Given the description of an element on the screen output the (x, y) to click on. 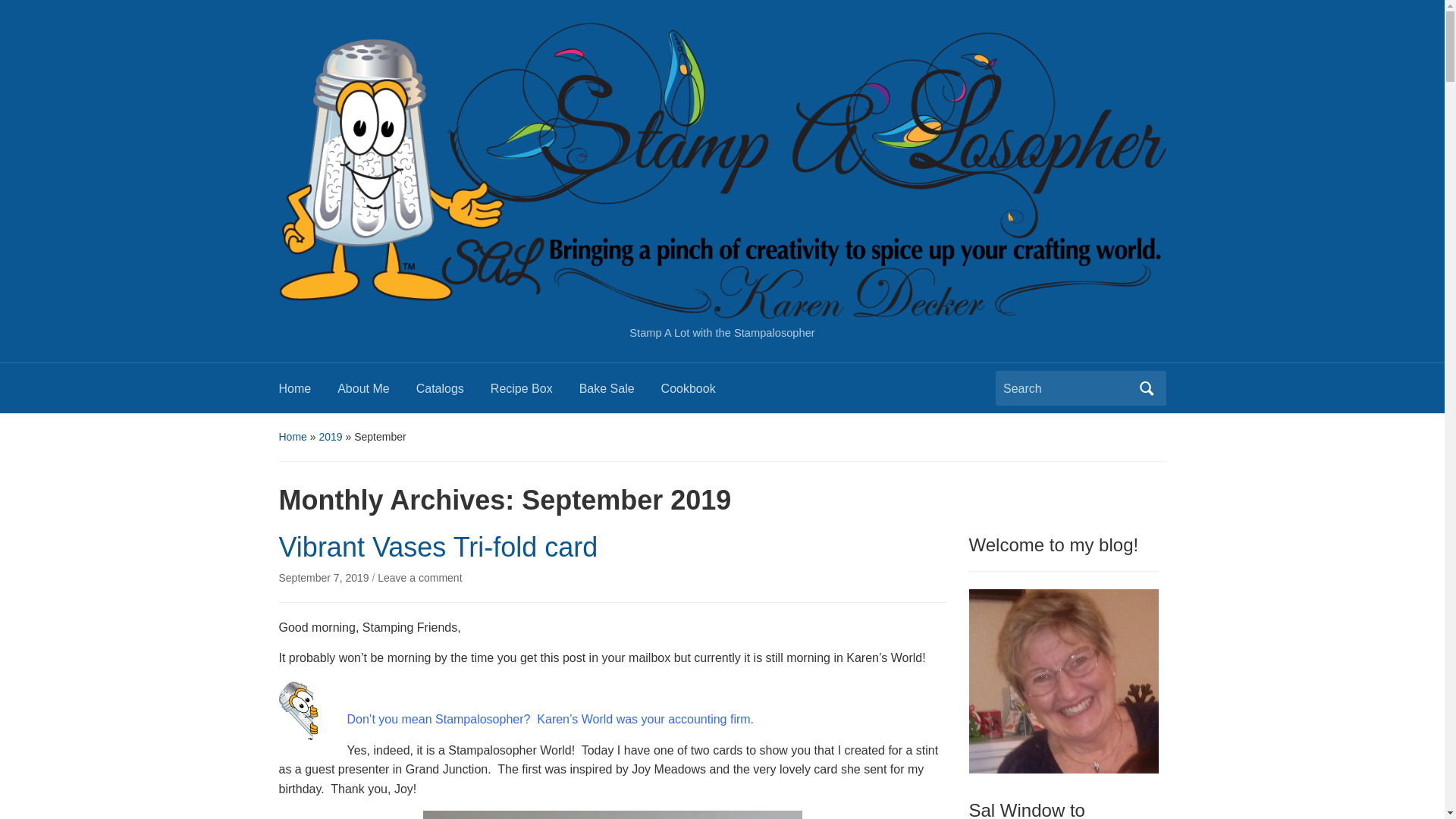
About Me (375, 392)
Catalogs (453, 392)
Cookbook (701, 392)
September 7, 2019 (325, 577)
Home (293, 436)
Home (308, 392)
Permanent Link to Vibrant Vases Tri-fold card (325, 577)
Leave a comment (419, 577)
Stampalosopher - Stamp A Lot with the Stampalosopher (722, 169)
Recipe Box (534, 392)
Bake Sale (620, 392)
2019 (330, 436)
Vibrant Vases Tri-fold card (438, 546)
